Given the description of an element on the screen output the (x, y) to click on. 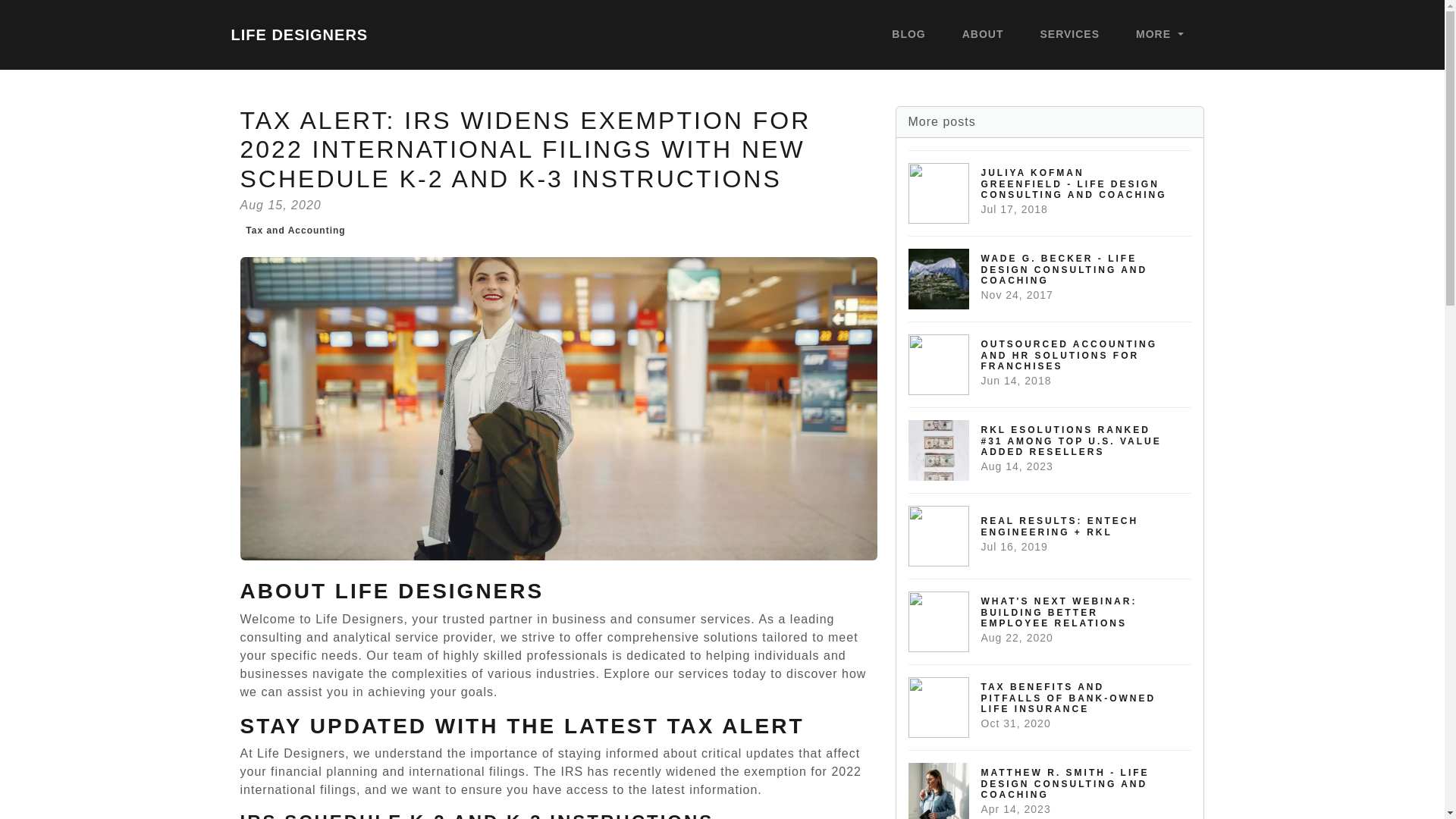
SERVICES (1069, 34)
LIFE DESIGNERS (299, 34)
Tax and Accounting (295, 230)
MORE (1159, 34)
ABOUT (983, 34)
BLOG (908, 34)
